Given the description of an element on the screen output the (x, y) to click on. 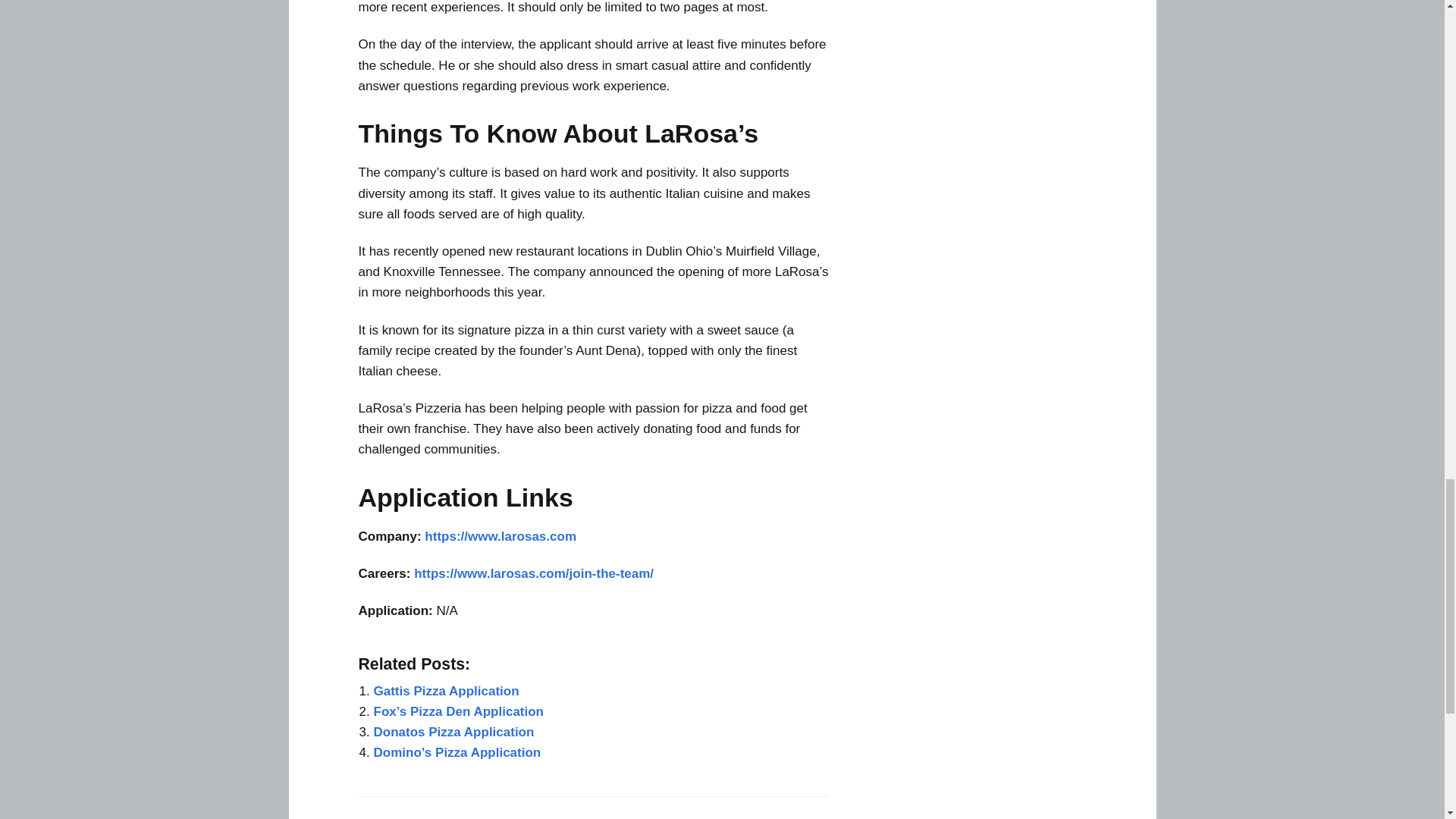
Gattis Pizza Application (445, 690)
Donatos Pizza Application (453, 731)
Gattis Pizza Application (445, 690)
Donatos Pizza Application (453, 731)
